Given the description of an element on the screen output the (x, y) to click on. 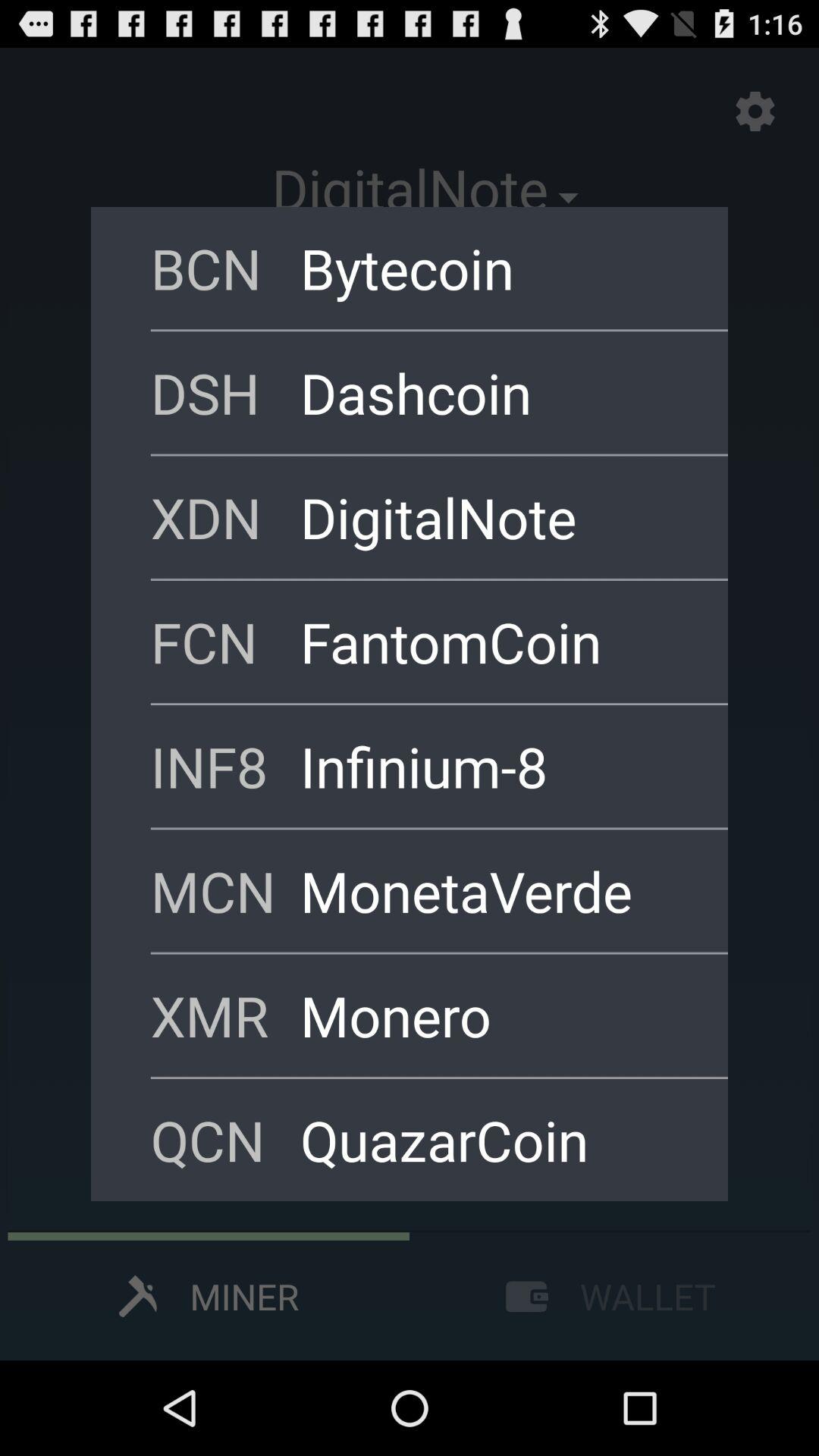
tap item above inf8 (494, 641)
